Given the description of an element on the screen output the (x, y) to click on. 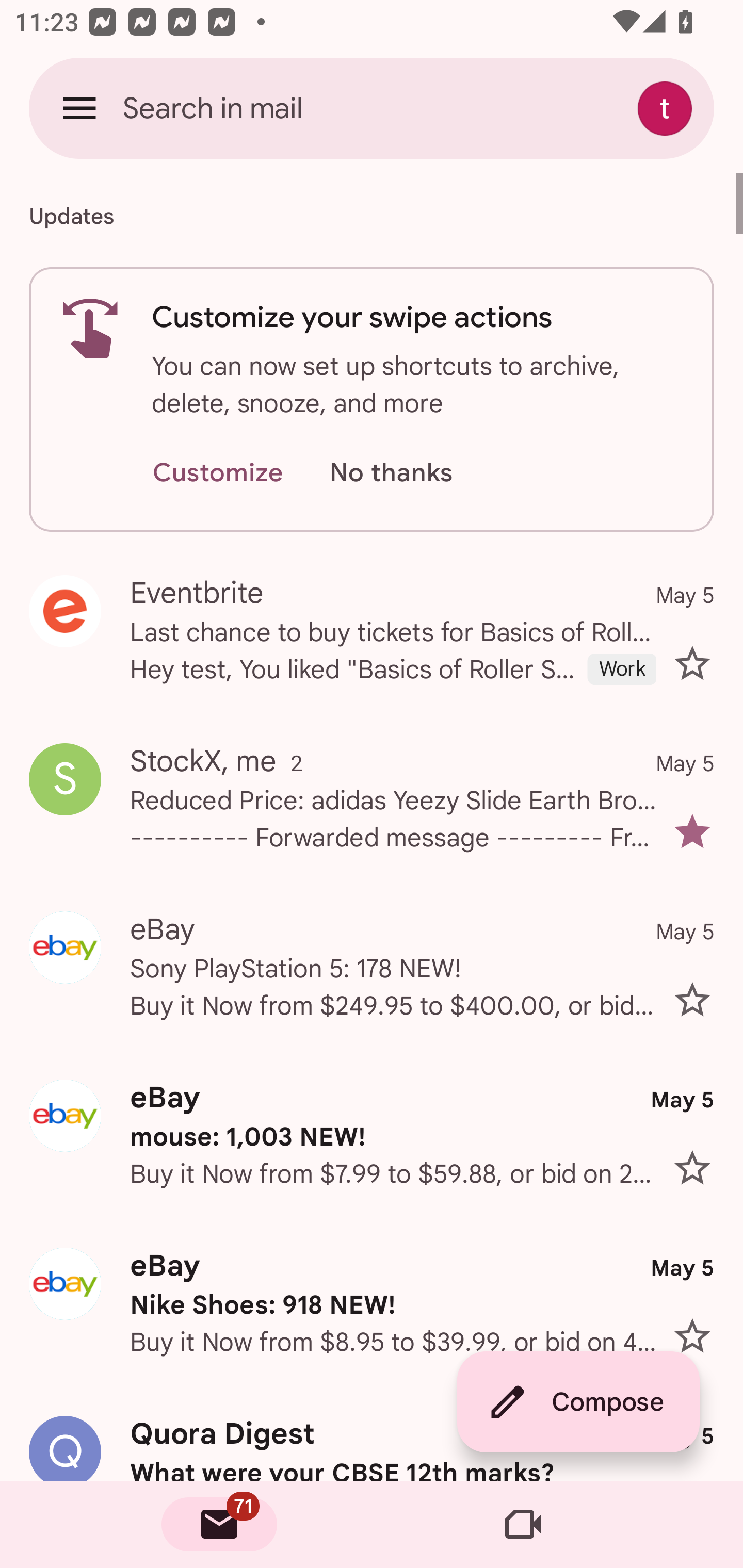
Open navigation drawer (79, 108)
Customize (217, 473)
No thanks (390, 473)
Compose (577, 1401)
Meet (523, 1524)
